Given the description of an element on the screen output the (x, y) to click on. 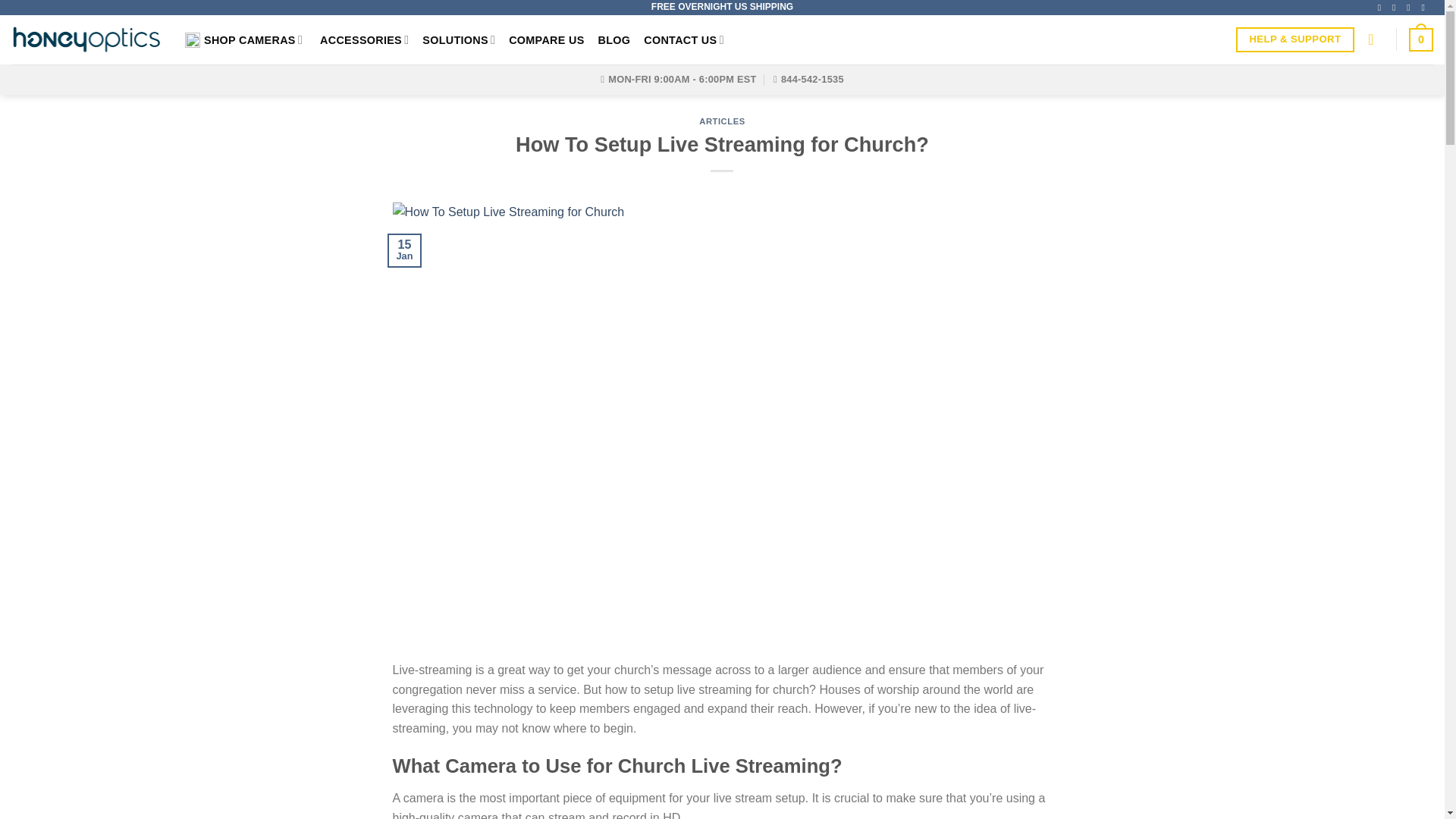
SHOP CAMERAS (244, 39)
ACCESSORIES (364, 39)
844-542-1535 (808, 79)
Honey Optics - Best in Class Affordable PTZ Cameras (86, 39)
SOLUTIONS (458, 39)
